Given the description of an element on the screen output the (x, y) to click on. 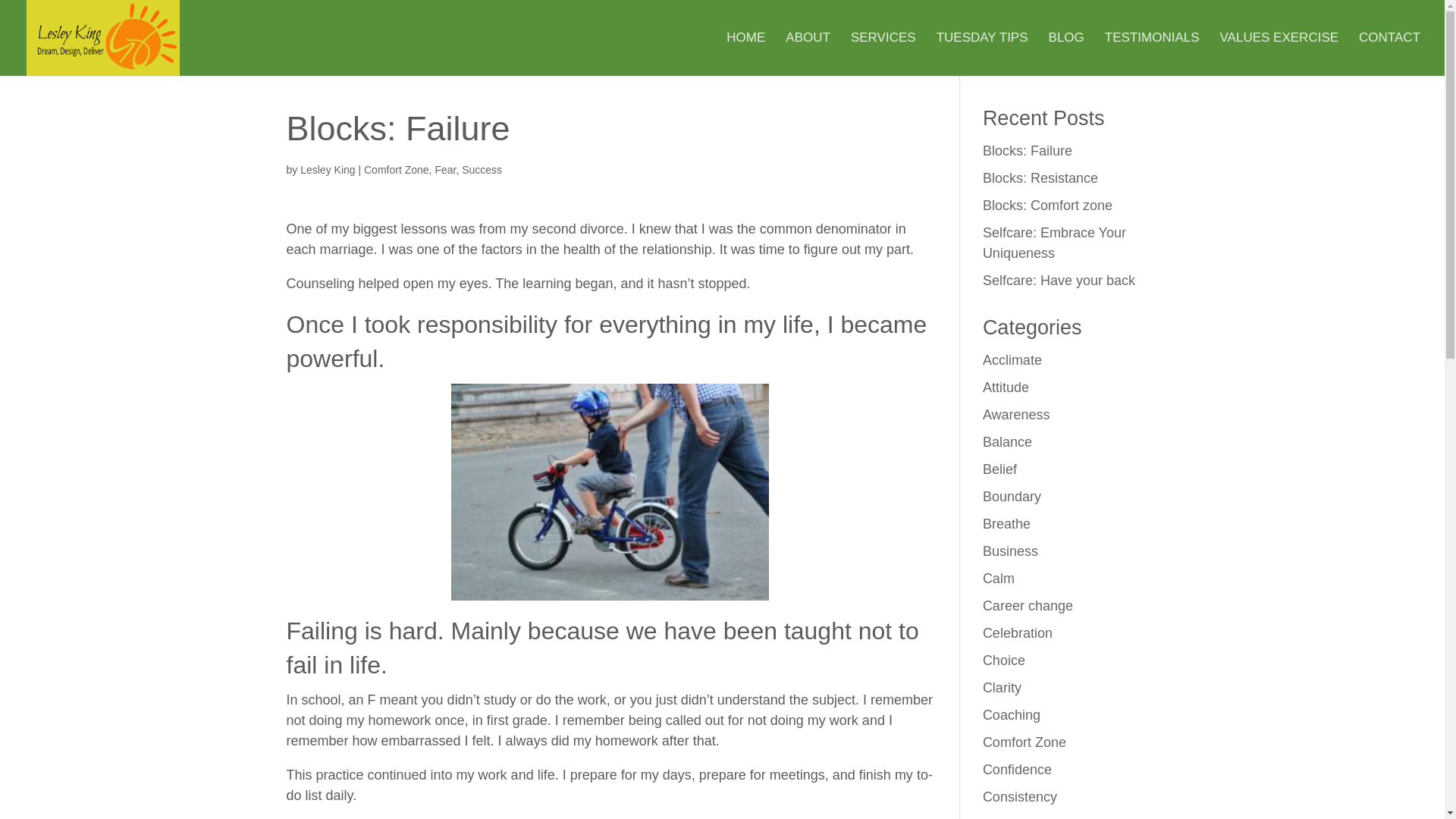
HOME (745, 54)
Attitude (1005, 387)
Acclimate (1012, 359)
Celebration (1017, 632)
Breathe (1006, 523)
ABOUT (807, 54)
Clarity (1002, 687)
Balance (1007, 441)
Belief (999, 468)
Success (481, 169)
